Given the description of an element on the screen output the (x, y) to click on. 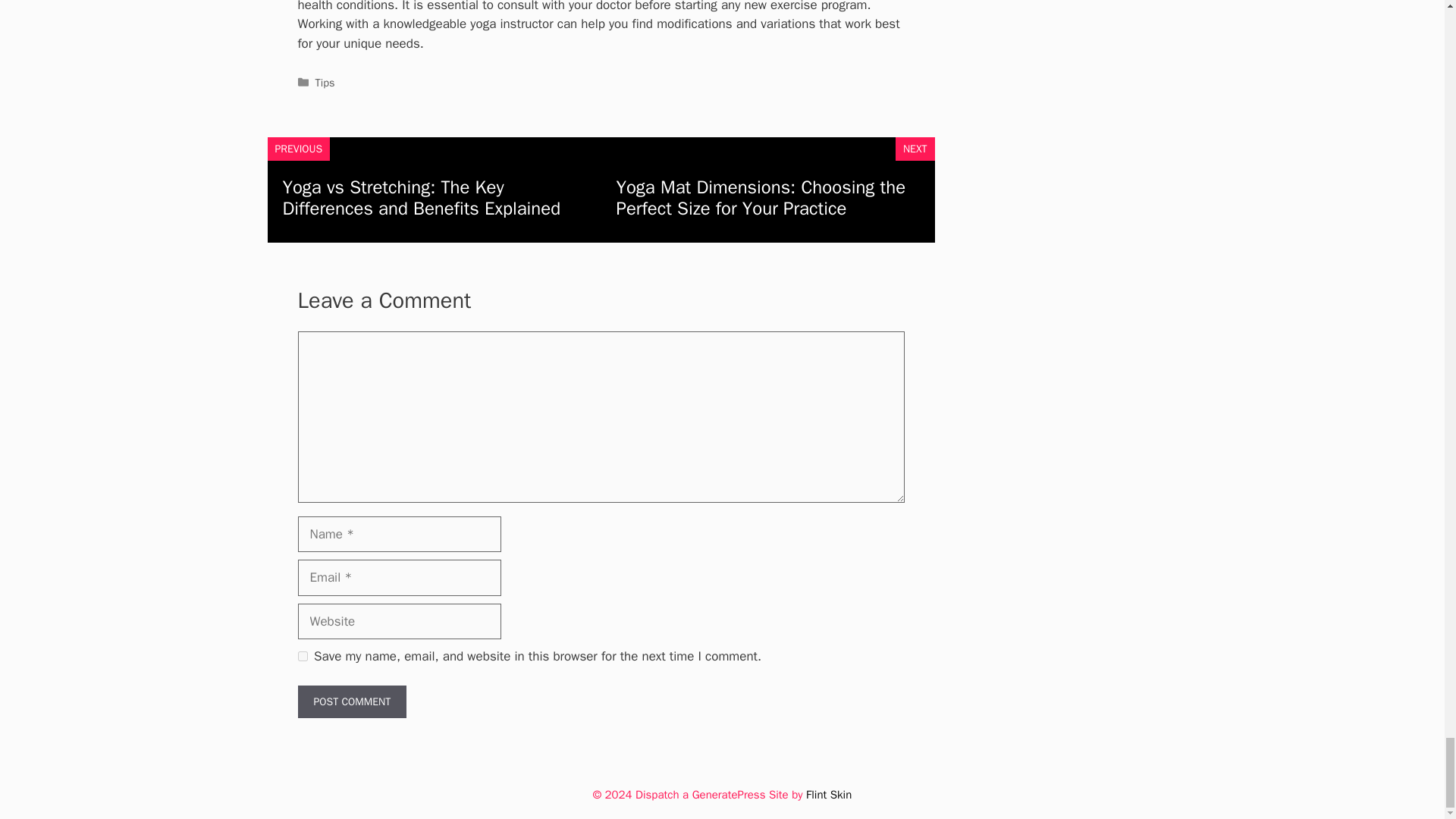
Tips (324, 82)
Post Comment (351, 701)
Post Comment (351, 701)
yes (302, 655)
